Given the description of an element on the screen output the (x, y) to click on. 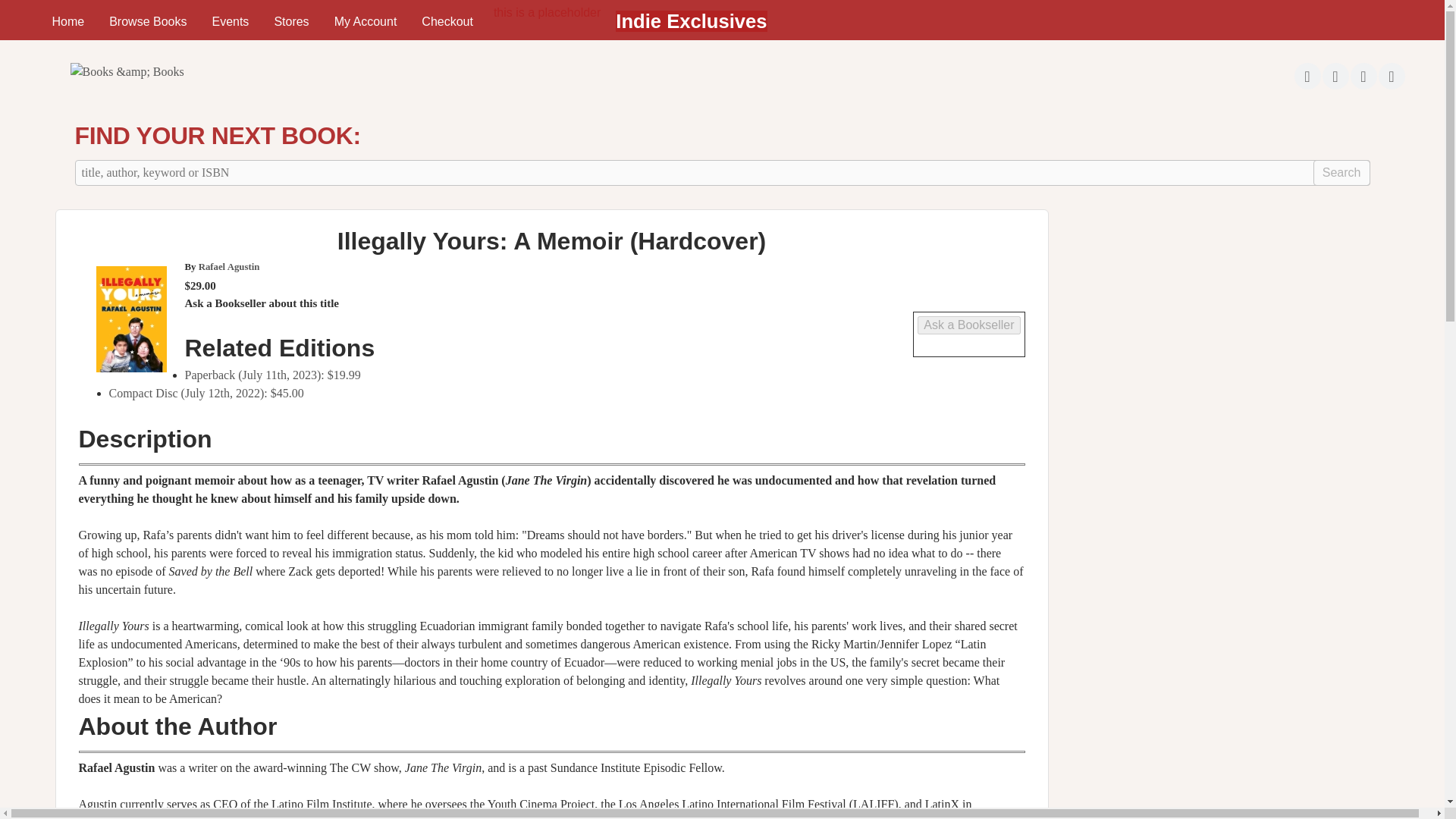
Events (229, 22)
Search (1341, 172)
Home page (126, 71)
Search (1341, 172)
Ask a Bookseller (968, 325)
Rafael Agustin (229, 266)
Enter the terms you wish to search for. (722, 172)
Checkout (446, 22)
Home (67, 22)
